Given the description of an element on the screen output the (x, y) to click on. 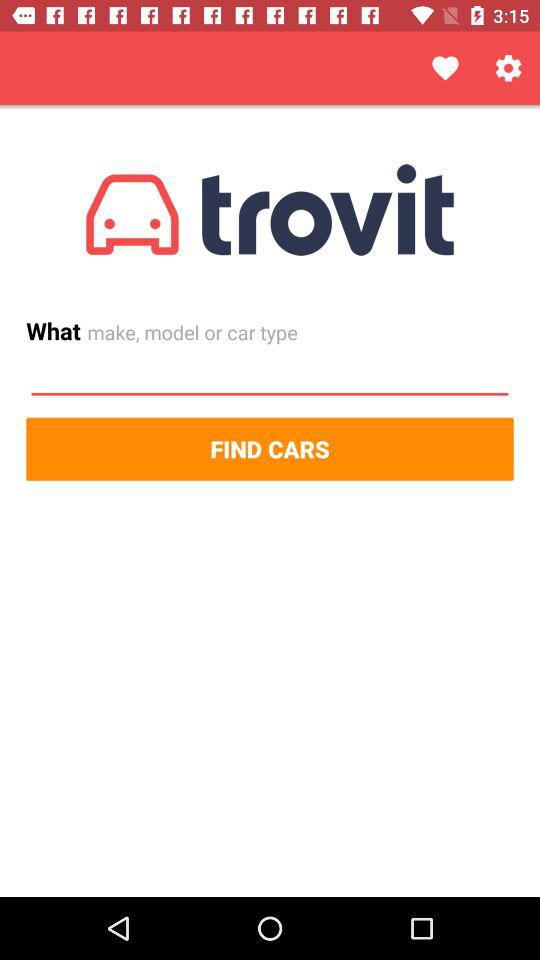
flip to the find cars item (269, 448)
